Given the description of an element on the screen output the (x, y) to click on. 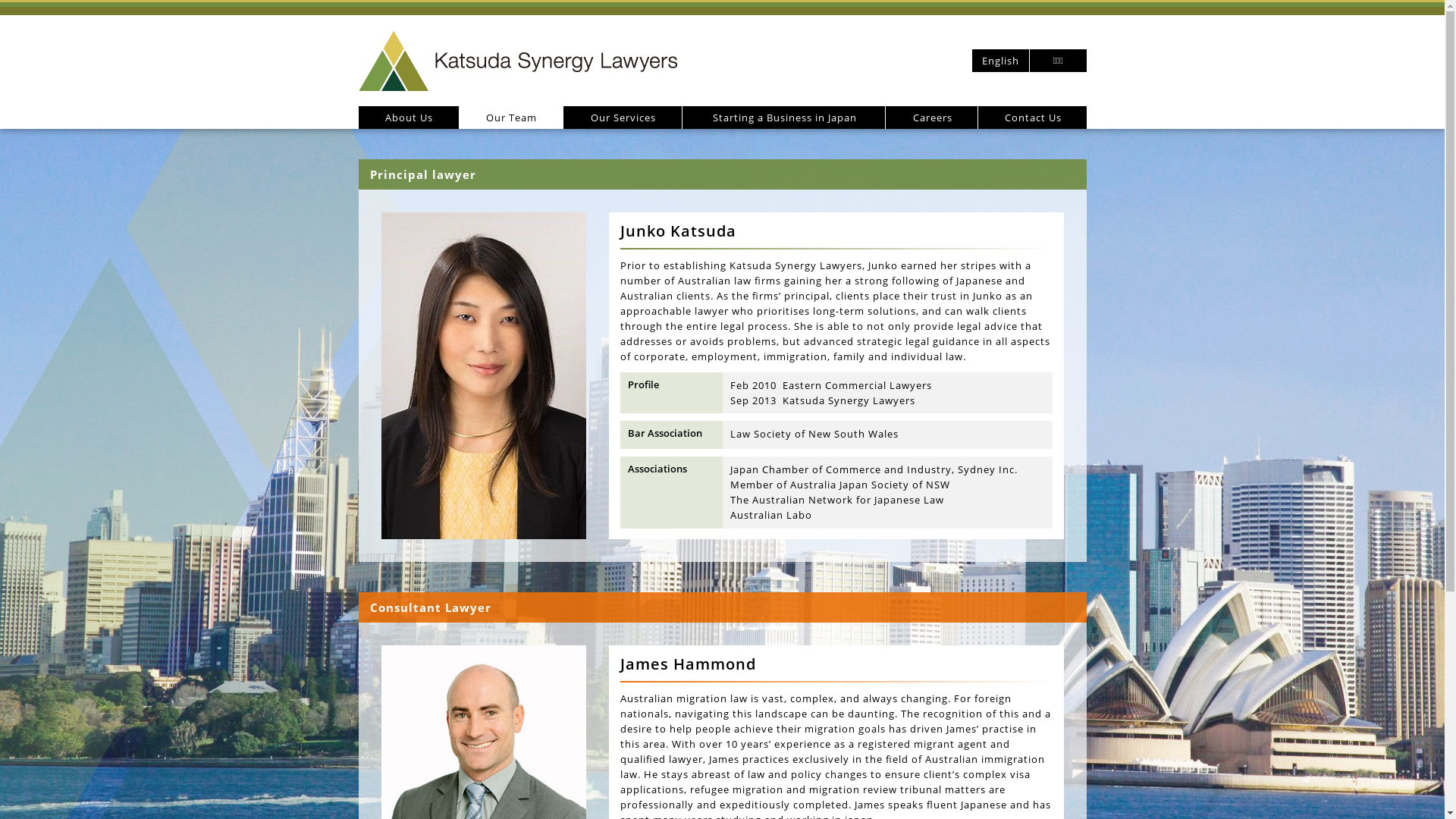
Careers Element type: text (931, 117)
Contact Us Element type: text (1032, 117)
Starting a Business in Japan Element type: text (783, 117)
Our Services Element type: text (621, 117)
English Element type: text (1000, 60)
Our Team Element type: text (510, 117)
About Us Element type: text (407, 117)
